Given the description of an element on the screen output the (x, y) to click on. 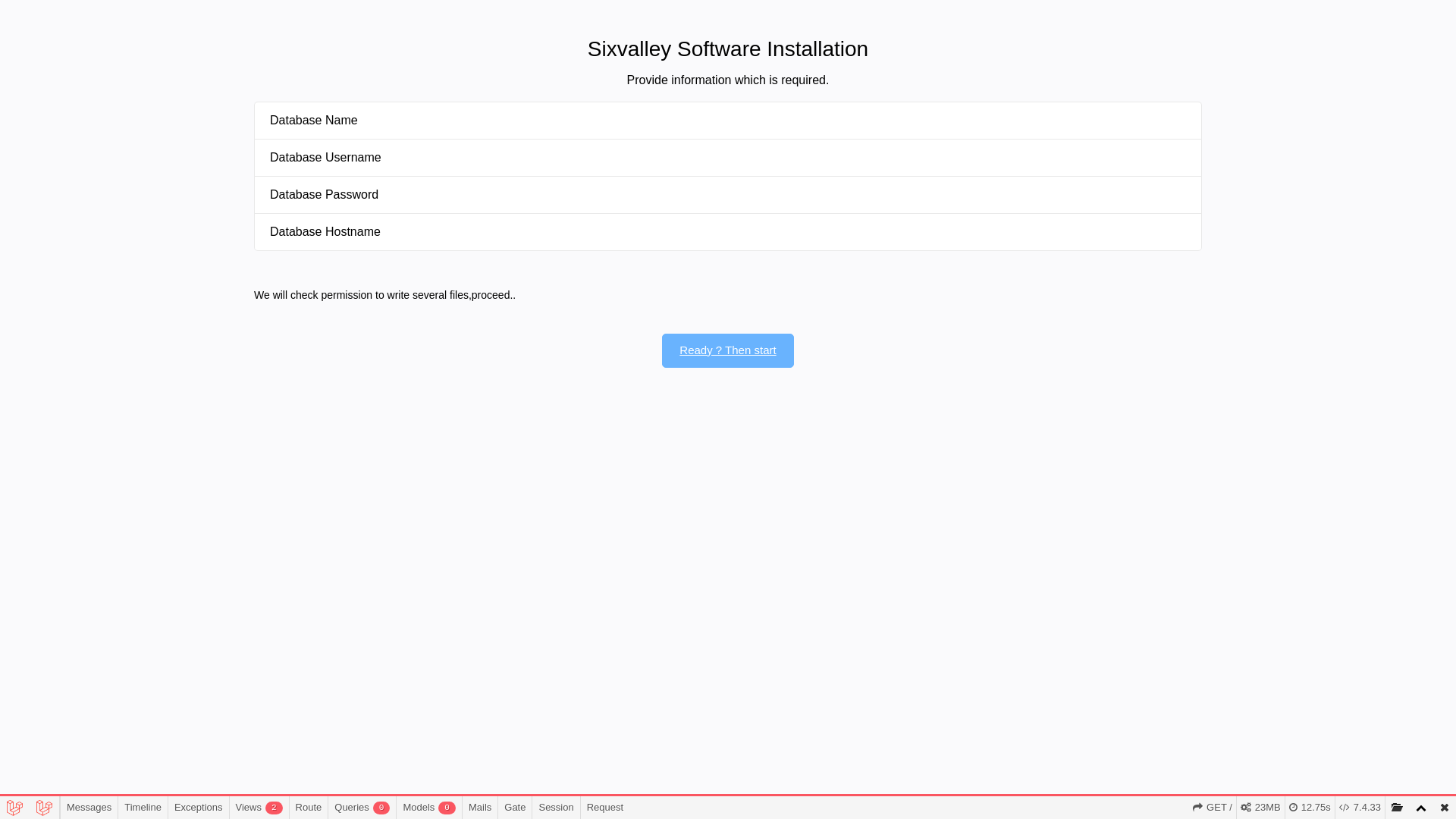
Ready ? Then start Element type: text (727, 350)
